Given the description of an element on the screen output the (x, y) to click on. 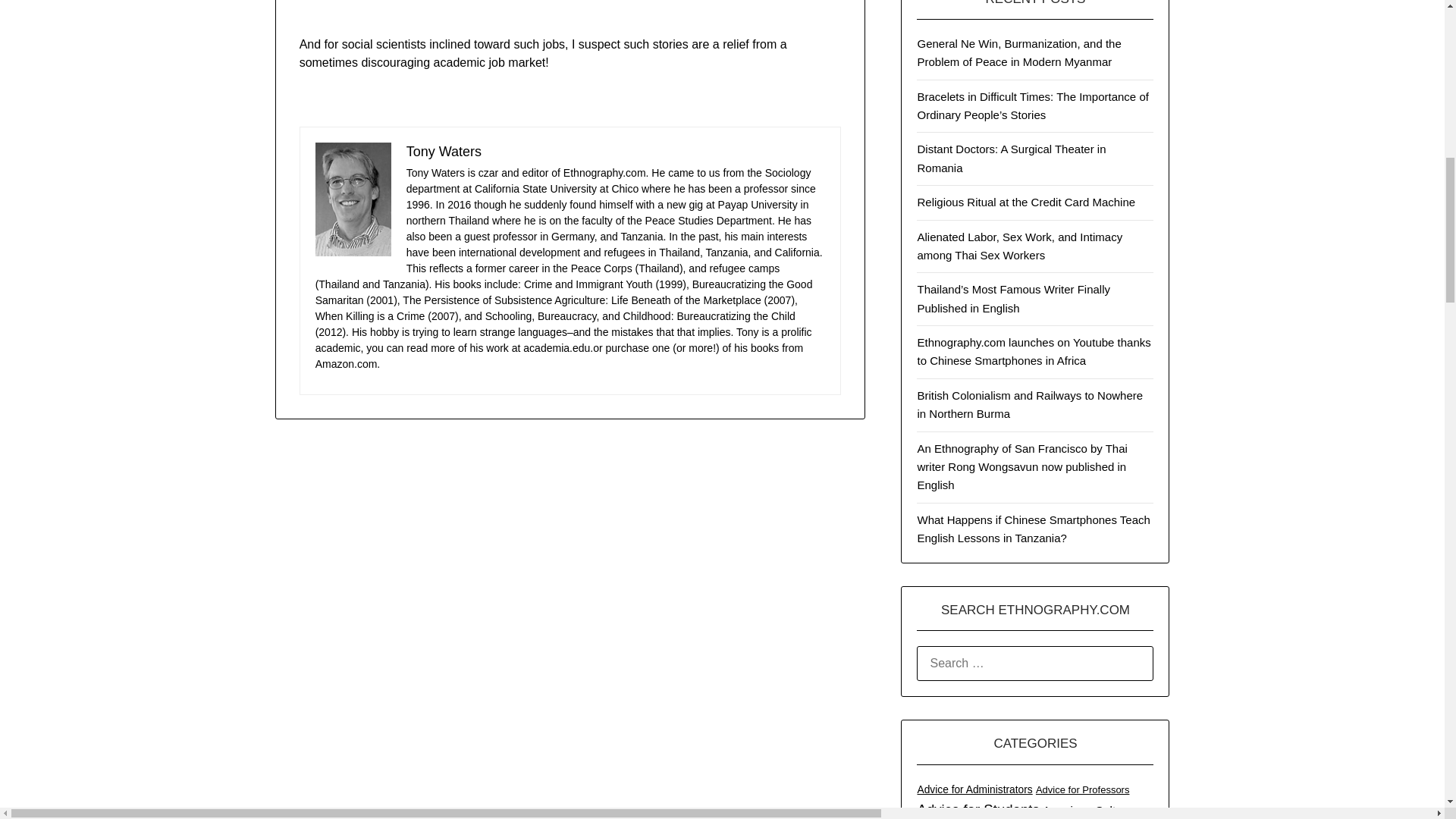
Distant Doctors: A Surgical Theater in Romania (1011, 157)
Tony Waters (443, 151)
Religious Ritual at the Credit Card Machine (1026, 201)
Advice for Administrators (974, 789)
Advice for Professors (1082, 789)
American Culture (1087, 809)
Advice for Students (978, 809)
